Given the description of an element on the screen output the (x, y) to click on. 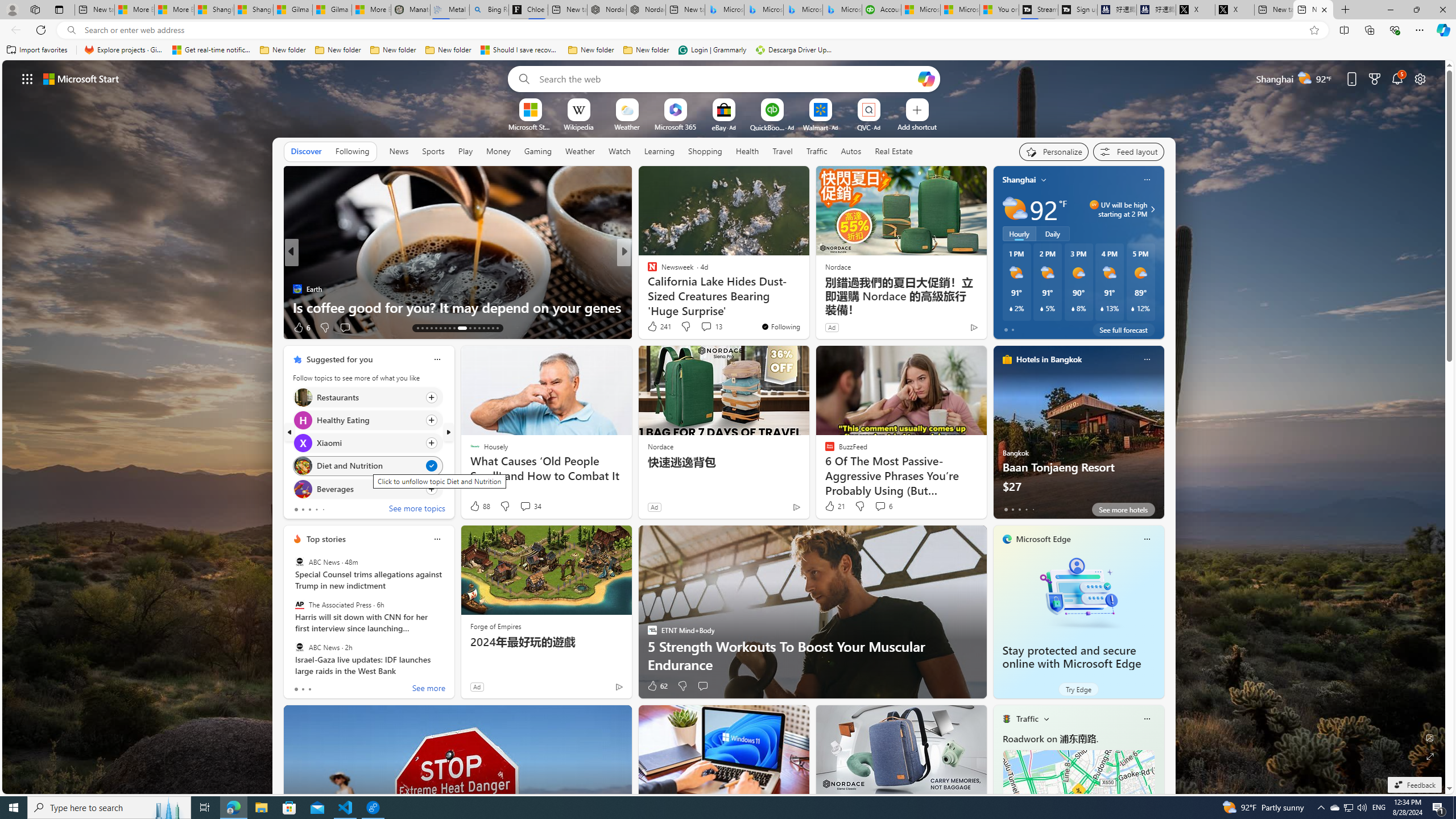
2 Like (651, 327)
Learning (658, 151)
Ad (476, 686)
Suggested for you (338, 359)
Import favorites (36, 49)
Restore (1416, 9)
Play (465, 151)
Hourly (1018, 233)
Open Copilot (925, 78)
Health (746, 151)
Favorites bar (728, 49)
AutomationID: tab-13 (417, 328)
